Given the description of an element on the screen output the (x, y) to click on. 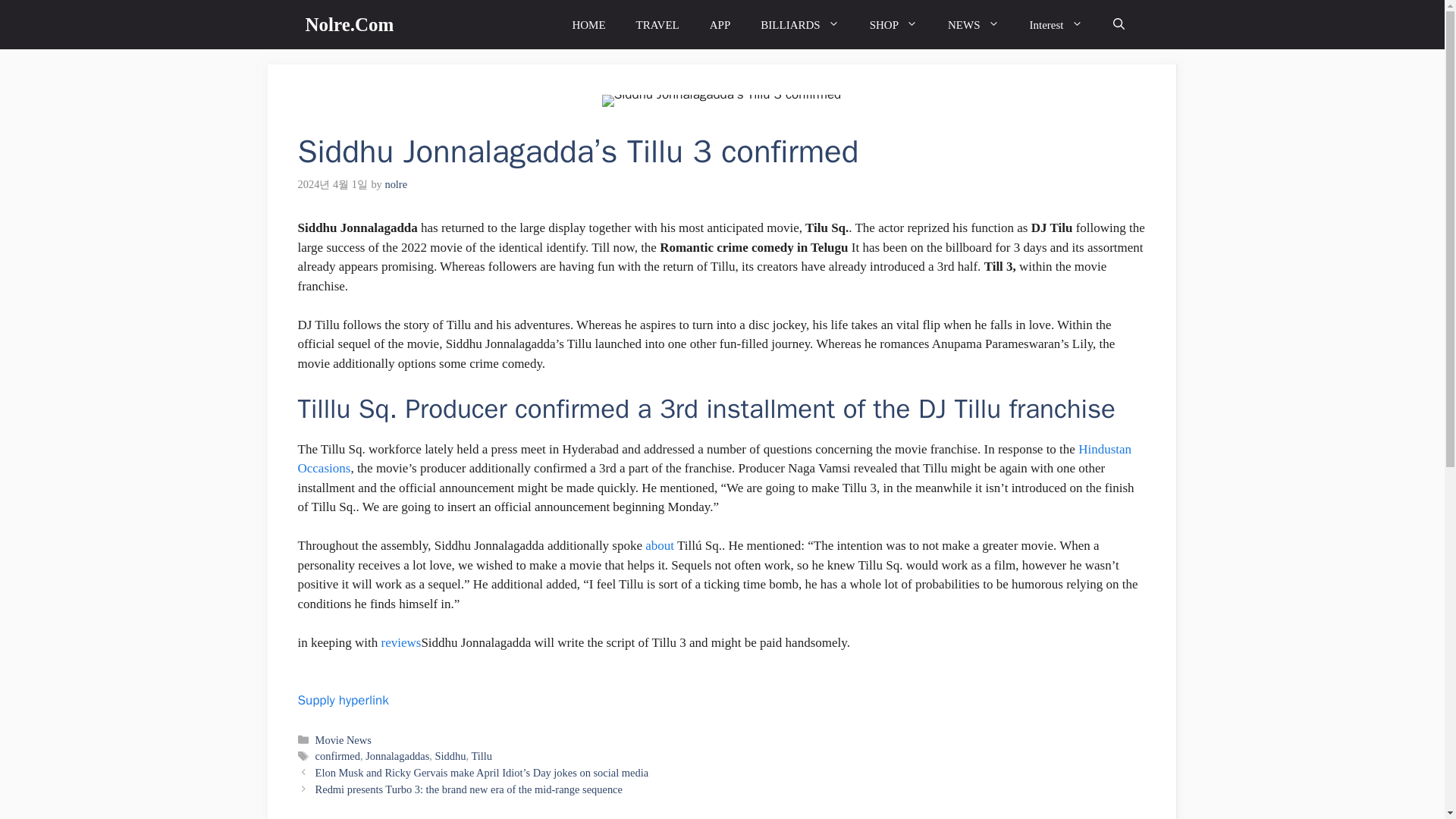
SHOP (893, 23)
Nolre.Com (348, 24)
HOME (588, 23)
NEWS (973, 23)
View all posts by nolre (395, 184)
APP (719, 23)
BILLIARDS (799, 23)
TRAVEL (657, 23)
Interest (1055, 23)
